Given the description of an element on the screen output the (x, y) to click on. 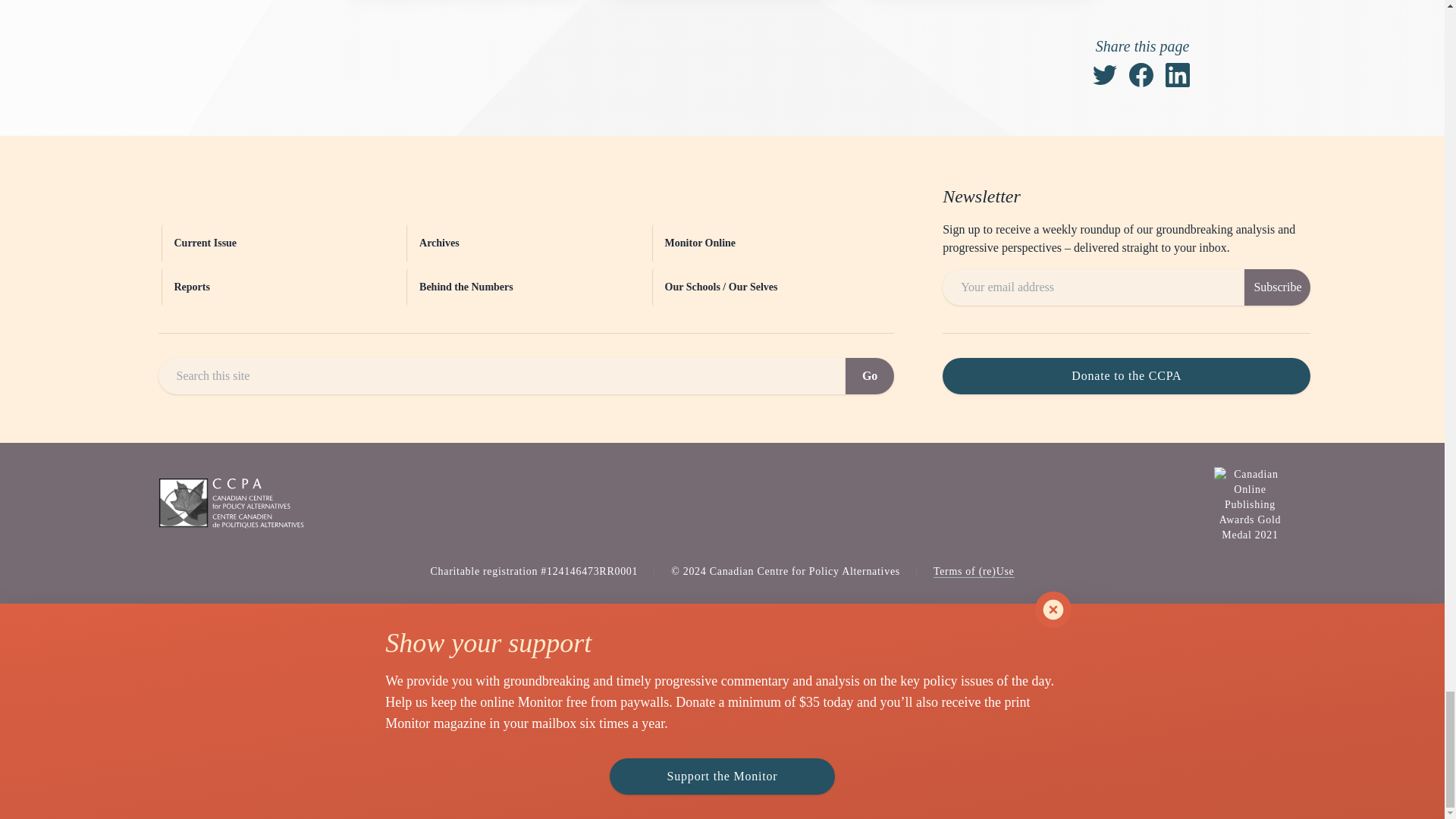
Subscribe (1277, 287)
Tweet (1104, 74)
Share on LinkedIn (1176, 74)
Share on Facebook (1140, 74)
